Given the description of an element on the screen output the (x, y) to click on. 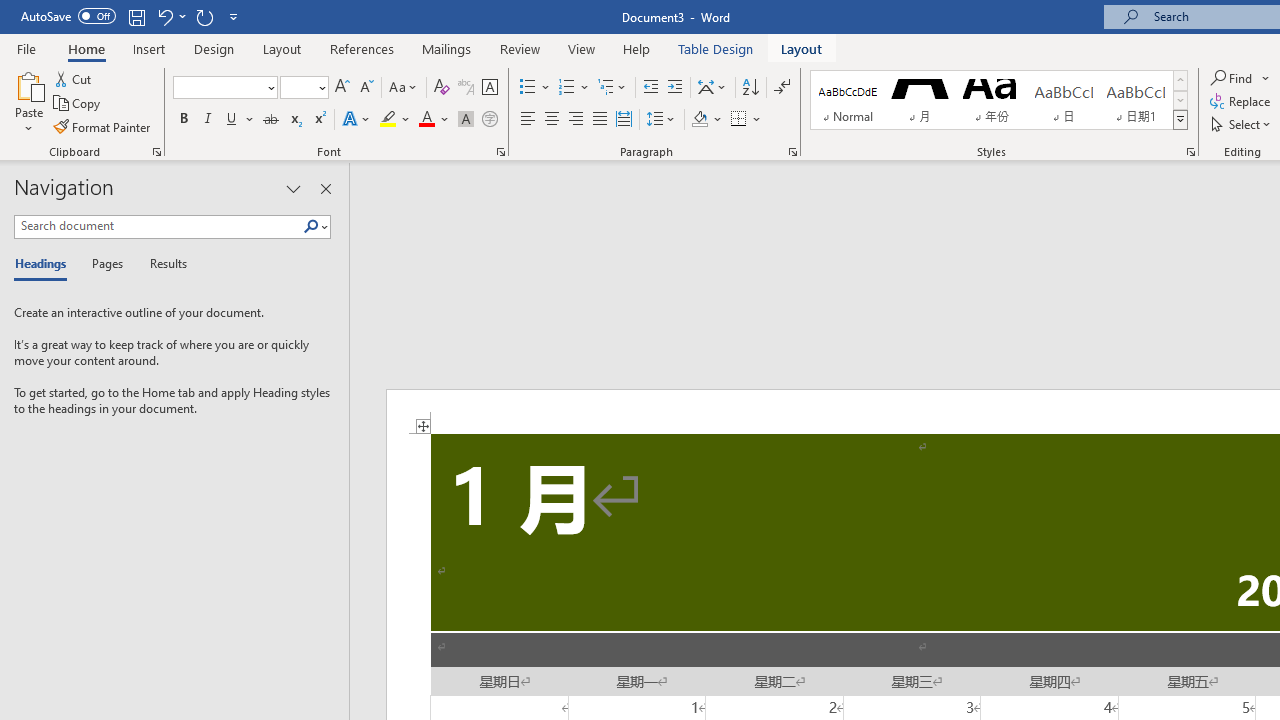
Undo Apply Quick Style (170, 15)
